Given the description of an element on the screen output the (x, y) to click on. 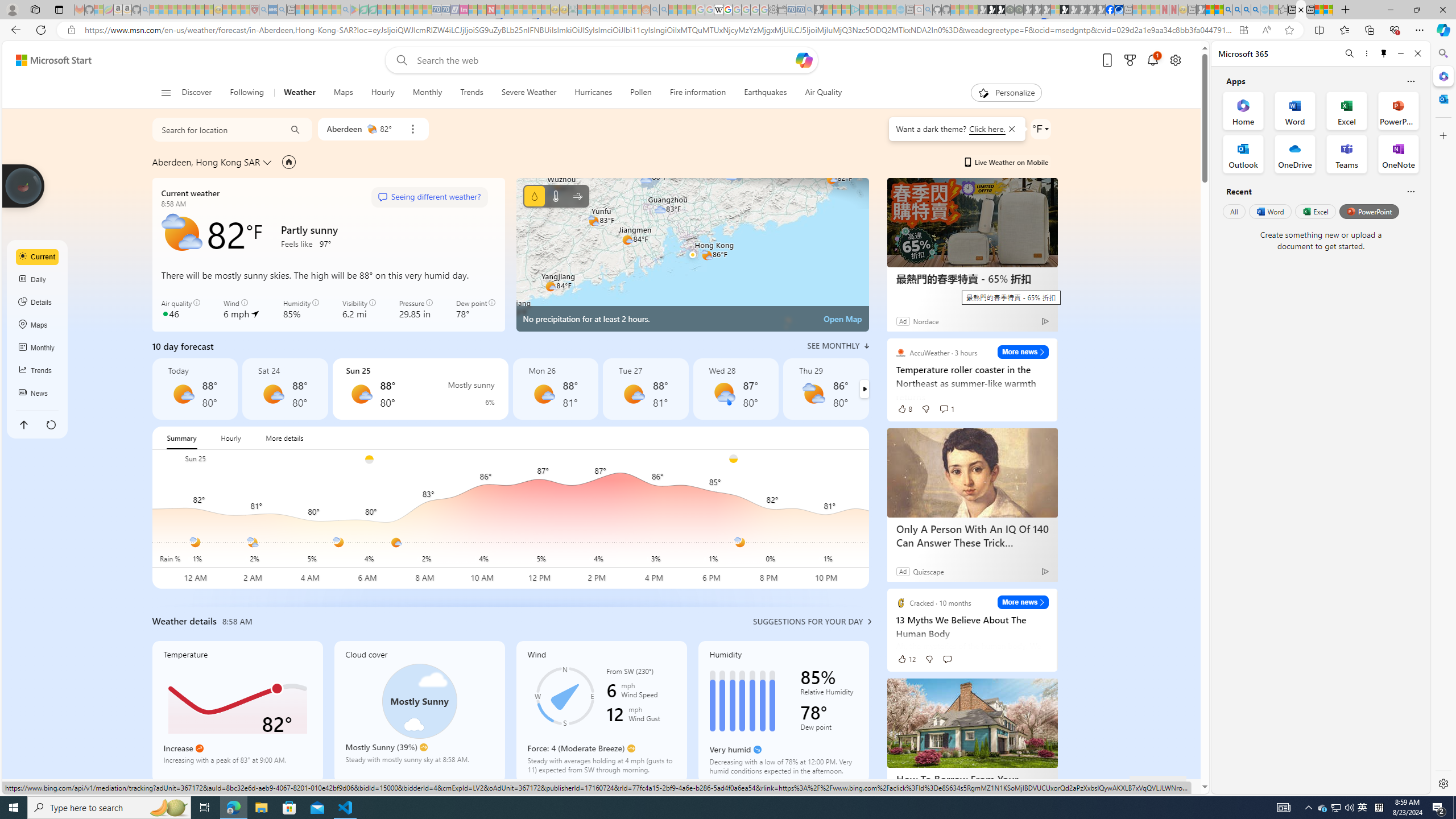
Maps (343, 92)
Pollen (641, 92)
Enter your search term (603, 59)
Maps (343, 92)
Open Map (842, 318)
